Given the description of an element on the screen output the (x, y) to click on. 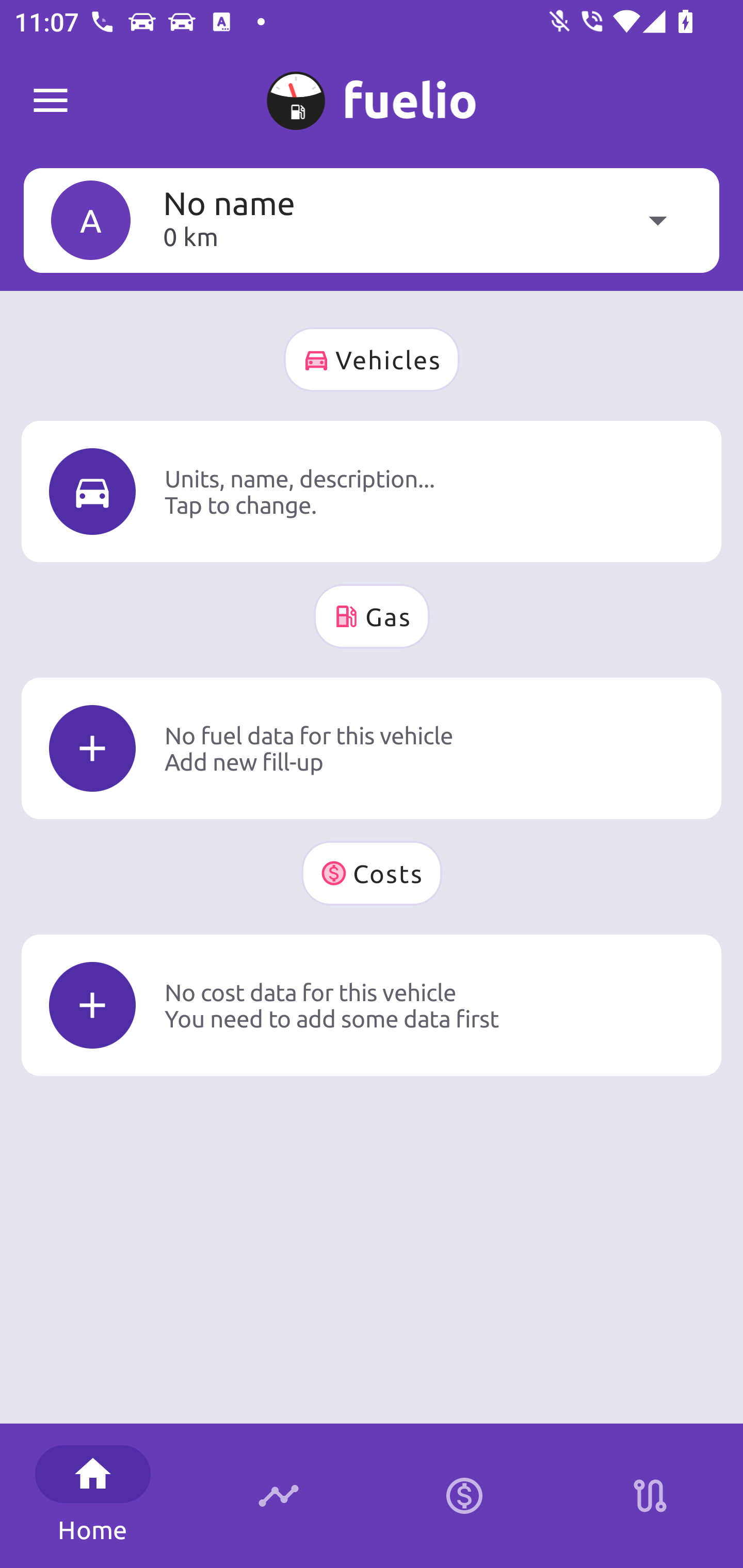
Fuelio (50, 101)
A No name 0 km (371, 219)
Vehicles (371, 359)
Icon Units, name, description...
Tap to change. (371, 491)
Icon (92, 491)
Gas (371, 616)
Icon No fuel data for this vehicle
Add new fill-up (371, 747)
Icon (92, 748)
Costs (371, 873)
Icon (92, 1004)
Timeline (278, 1495)
Calculator (464, 1495)
Stations on route (650, 1495)
